Given the description of an element on the screen output the (x, y) to click on. 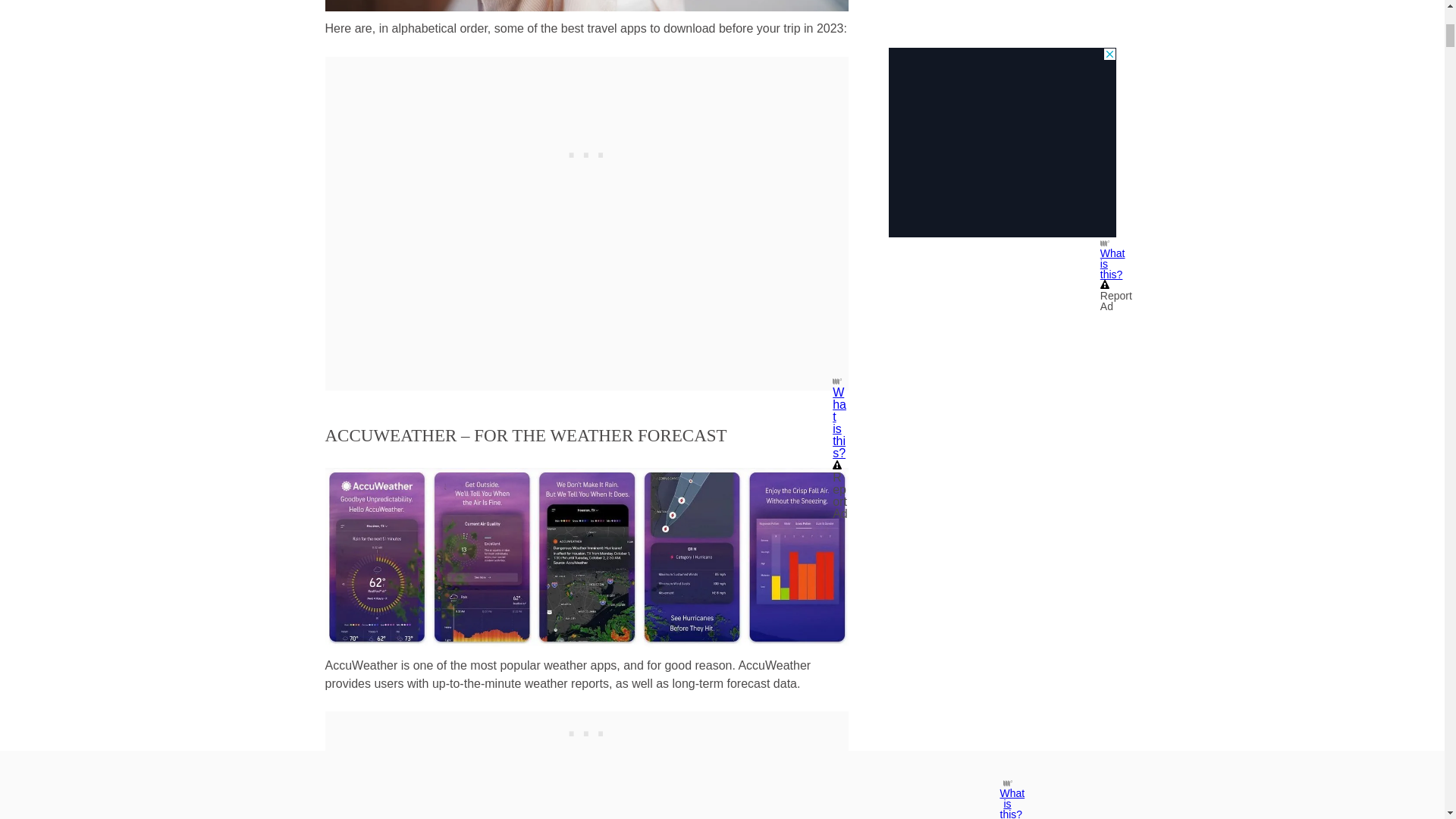
3rd party ad content (586, 151)
3rd party ad content (586, 730)
